Given the description of an element on the screen output the (x, y) to click on. 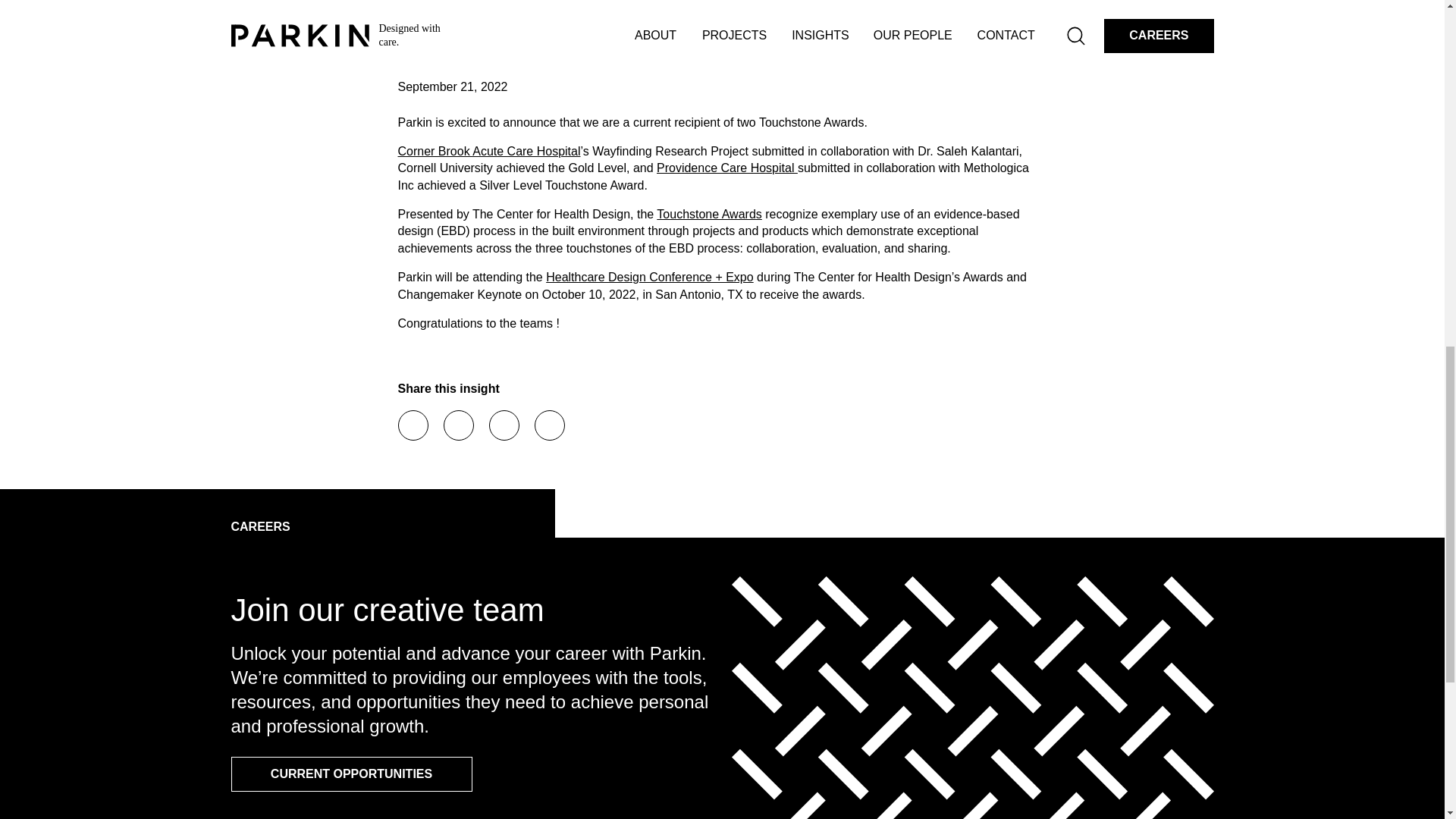
Providence Care Hospital (726, 167)
Facebook (412, 425)
LinkedIn (457, 425)
Touchstone Awards (708, 214)
Corner Brook Acute Care Hospital (488, 151)
CURRENT OPPORTUNITIES (350, 773)
Email (502, 425)
